Given the description of an element on the screen output the (x, y) to click on. 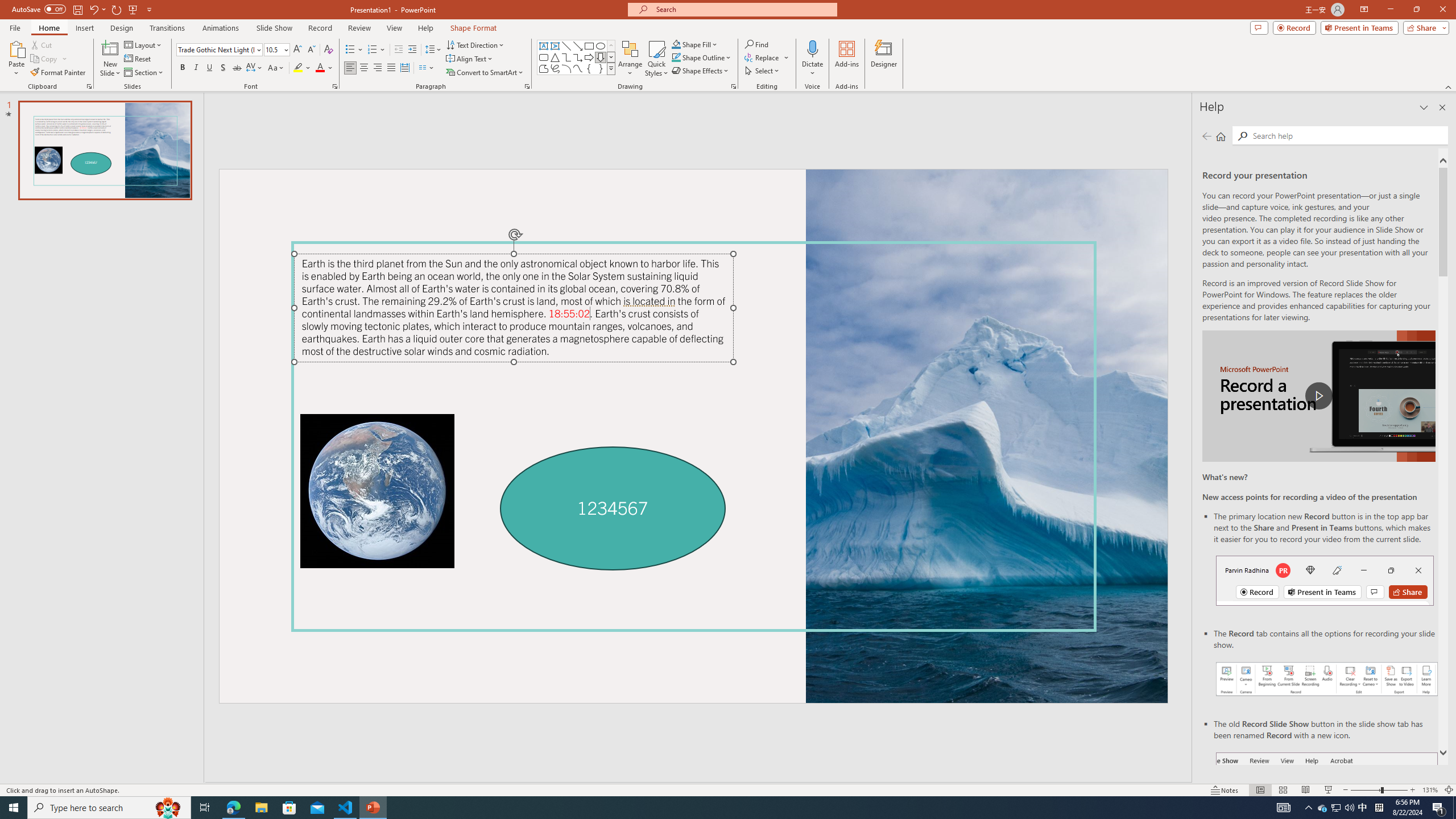
Previous page (1206, 136)
